Given the description of an element on the screen output the (x, y) to click on. 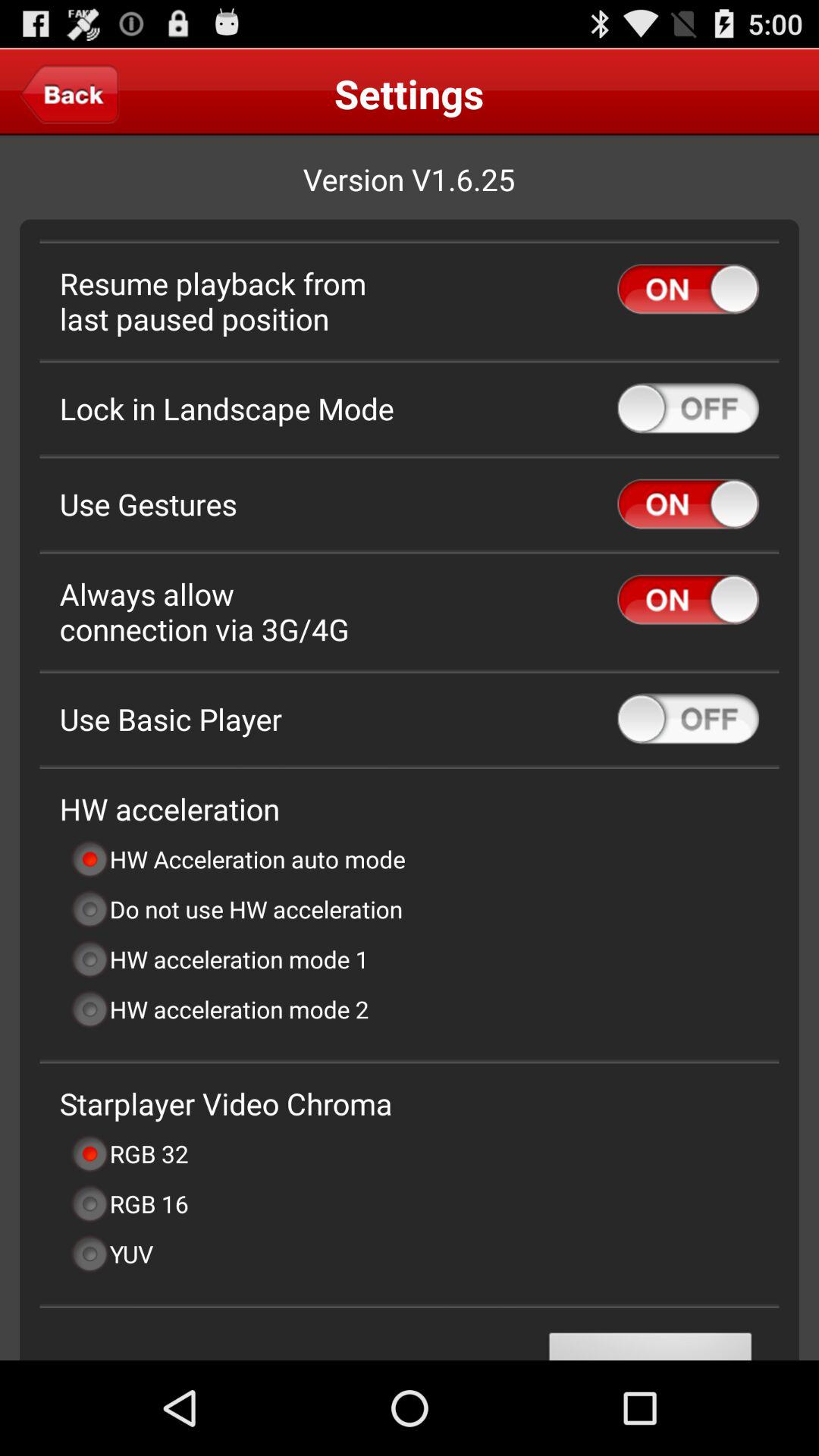
previous page (69, 93)
